Given the description of an element on the screen output the (x, y) to click on. 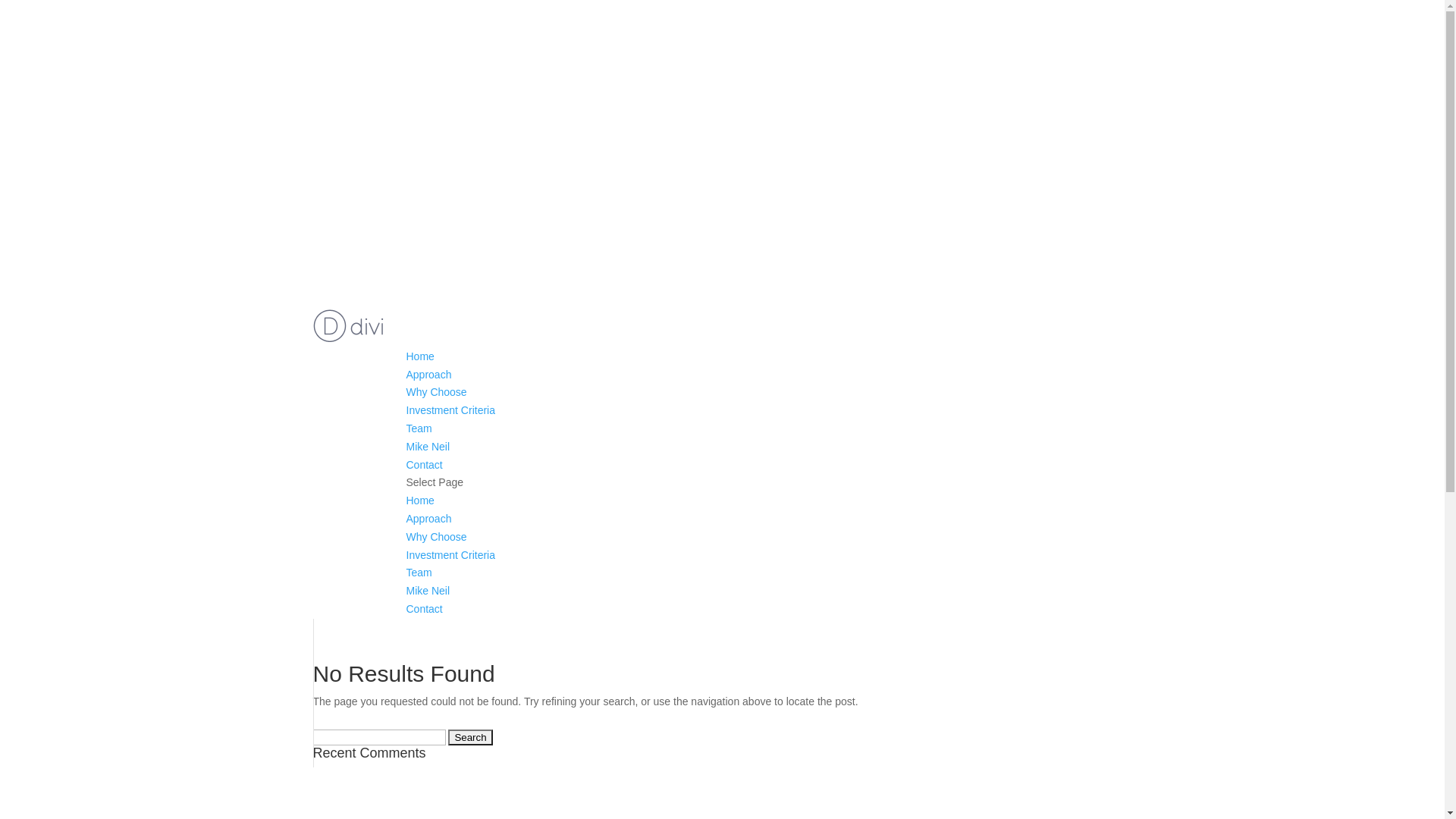
Home Element type: text (420, 356)
Home Element type: text (420, 500)
Why Choose Element type: text (436, 536)
Contact Element type: text (424, 464)
Investment Criteria Element type: text (450, 410)
Team Element type: text (419, 428)
Mike Neil Element type: text (428, 446)
Approach Element type: text (428, 518)
Contact Element type: text (424, 608)
Why Choose Element type: text (436, 391)
Investment Criteria Element type: text (450, 555)
Mike Neil Element type: text (428, 590)
Search Element type: text (470, 737)
Approach Element type: text (428, 374)
Team Element type: text (419, 572)
